Given the description of an element on the screen output the (x, y) to click on. 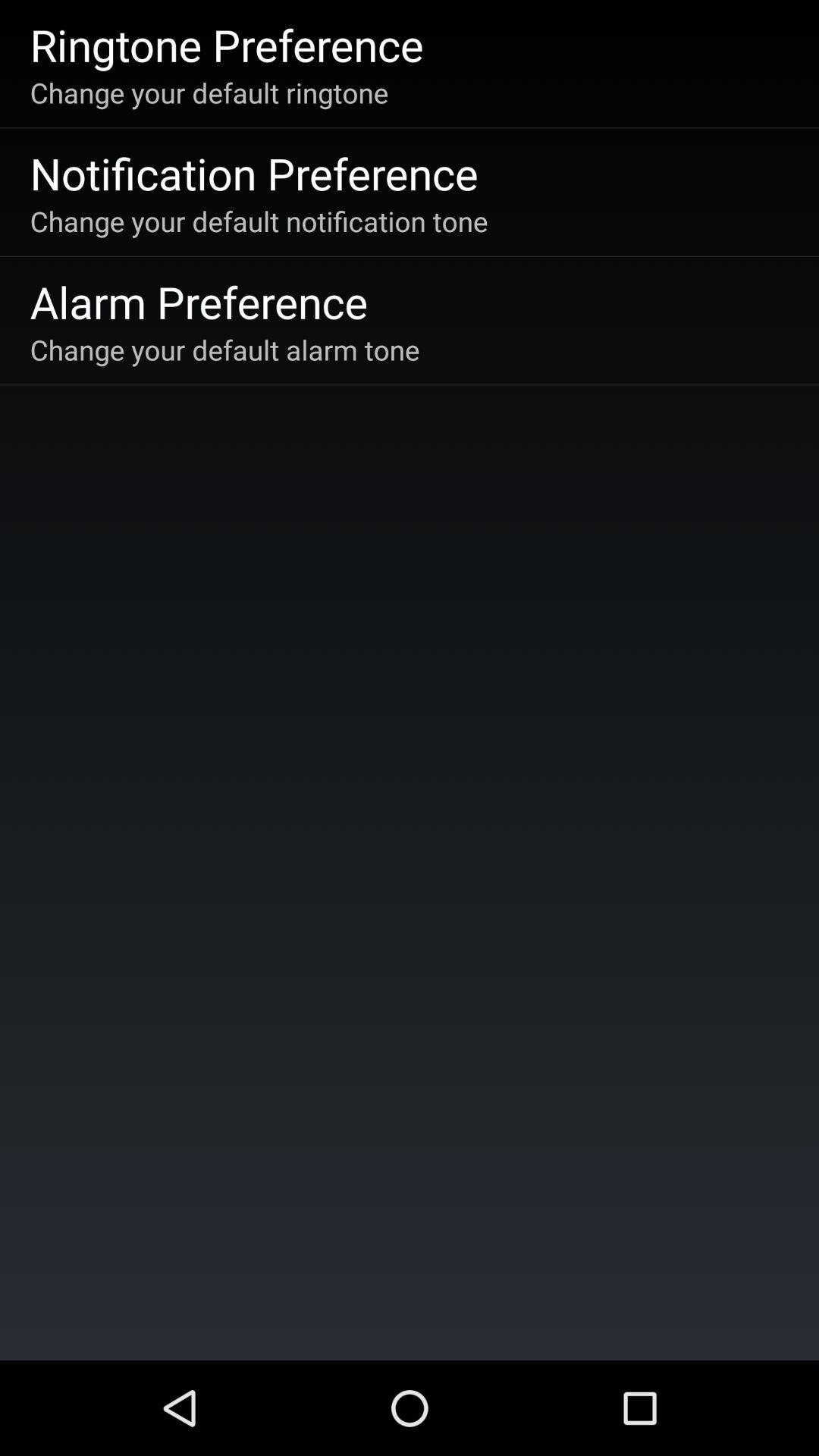
tap the item above the change your default (226, 44)
